Given the description of an element on the screen output the (x, y) to click on. 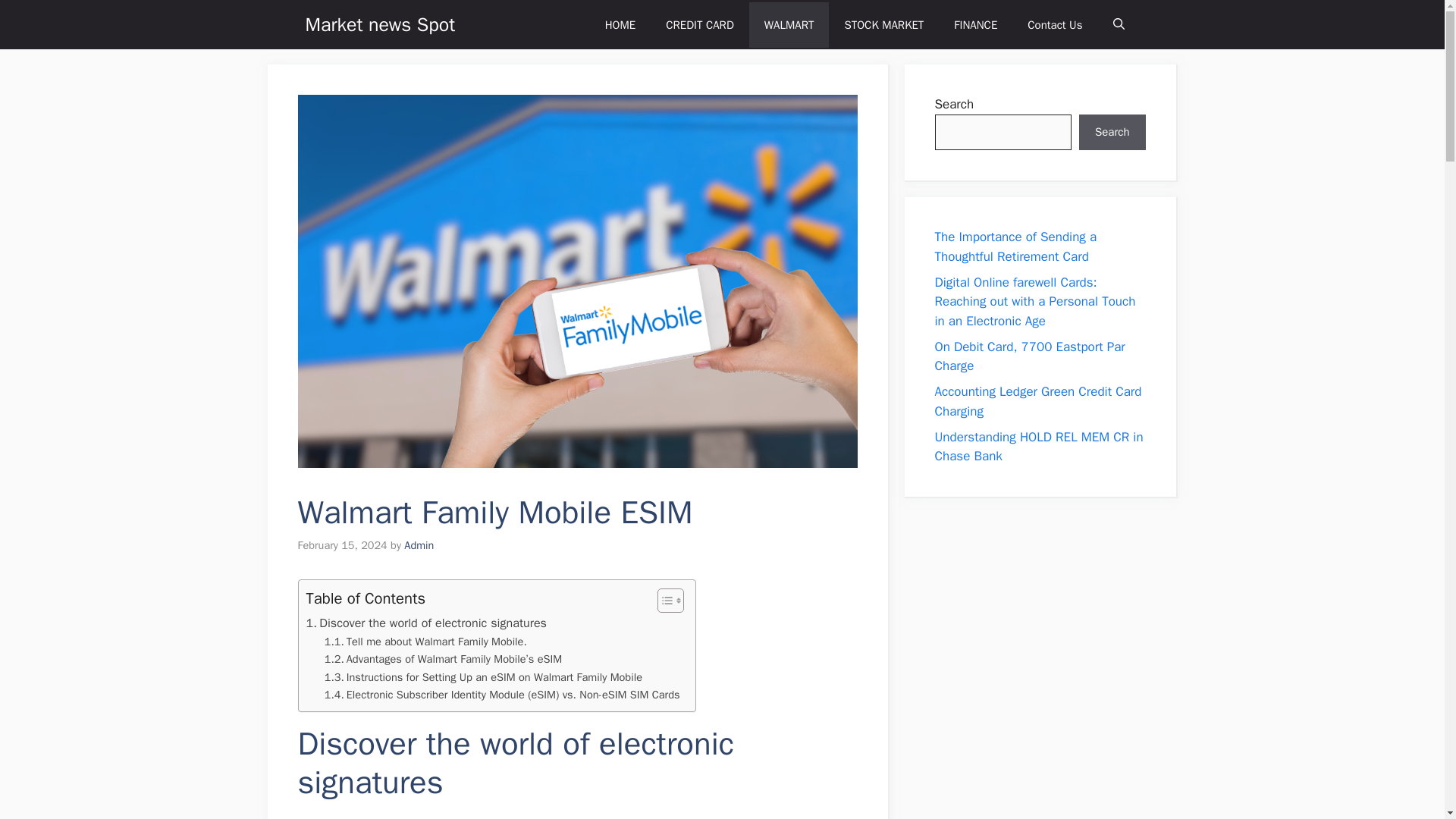
View all posts by Admin (418, 545)
Market news Spot (379, 24)
Understanding HOLD REL MEM CR in Chase Bank (1038, 447)
Tell me about Walmart Family Mobile. (425, 641)
CREDIT CARD (425, 641)
Accounting Ledger Green Credit Card Charging (699, 23)
Instructions for Setting Up an eSIM on Walmart Family Mobile (1037, 401)
The Importance of Sending a Thoughtful Retirement Card (483, 677)
On Debit Card, 7700 Eastport Par Charge (1015, 246)
Discover the world of electronic signatures (1029, 355)
STOCK MARKET (426, 623)
Contact Us (883, 23)
